Given the description of an element on the screen output the (x, y) to click on. 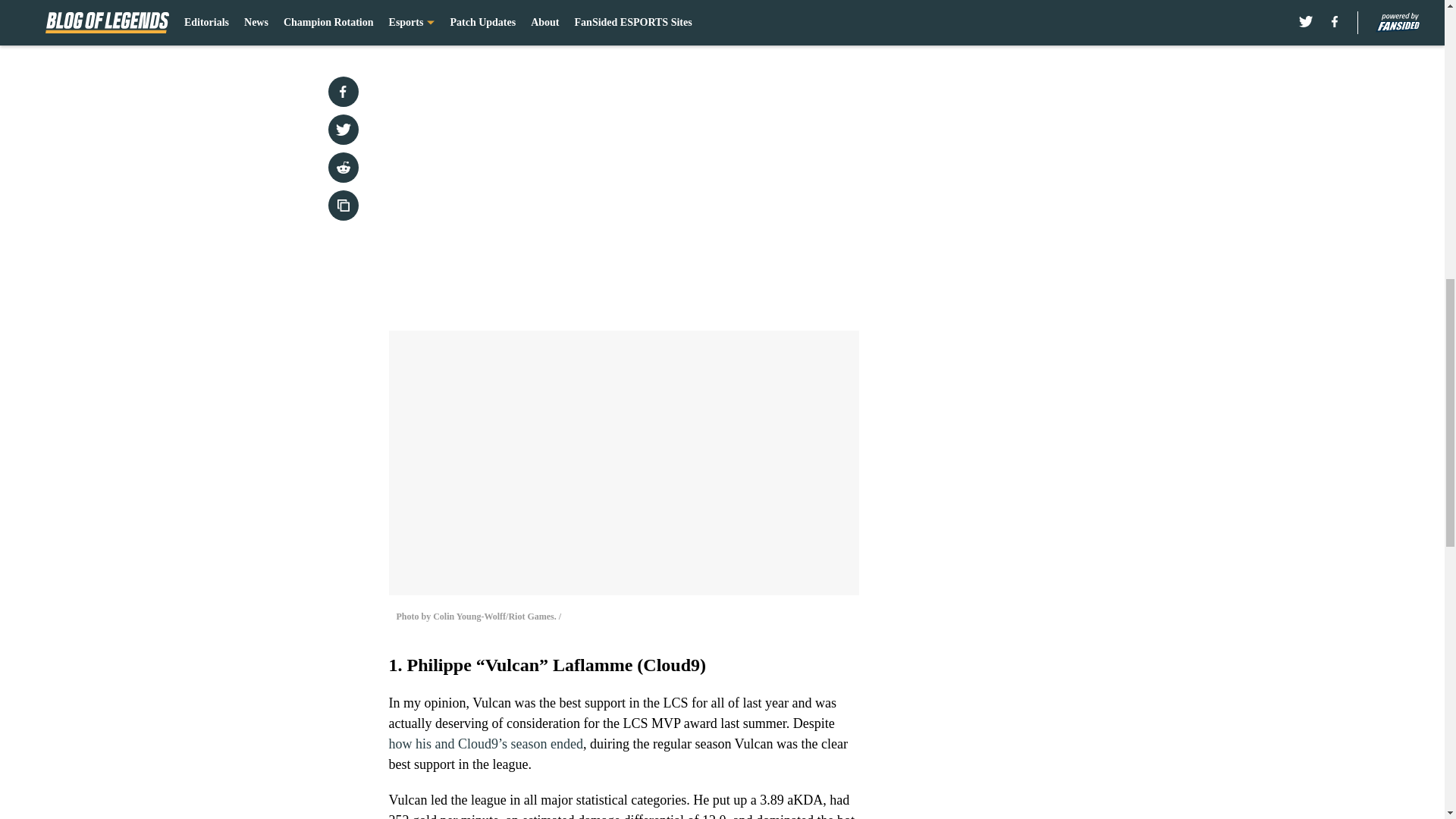
Next (813, 20)
Prev (433, 20)
